Given the description of an element on the screen output the (x, y) to click on. 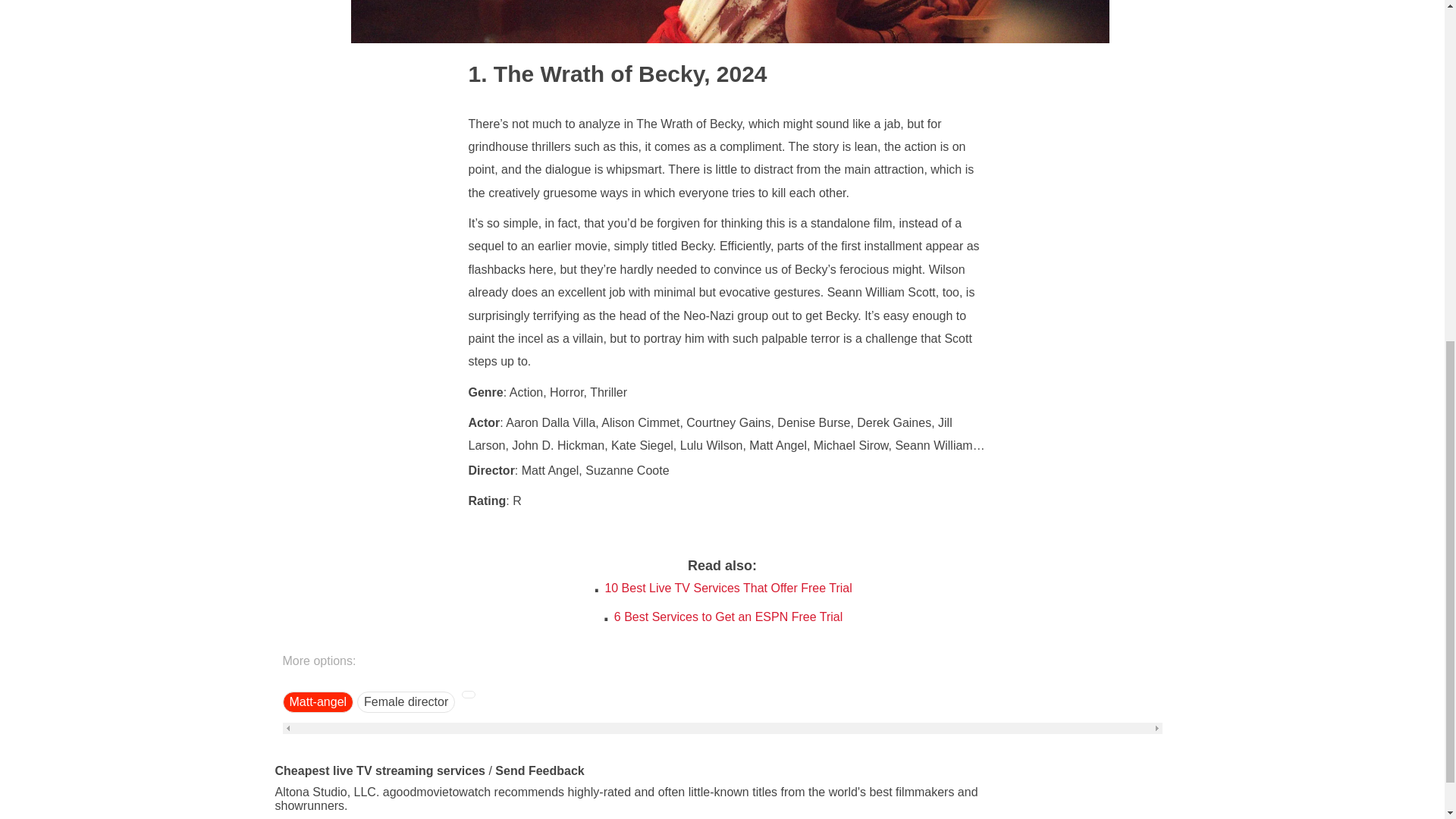
The Wrath of Becky (586, 72)
